Given the description of an element on the screen output the (x, y) to click on. 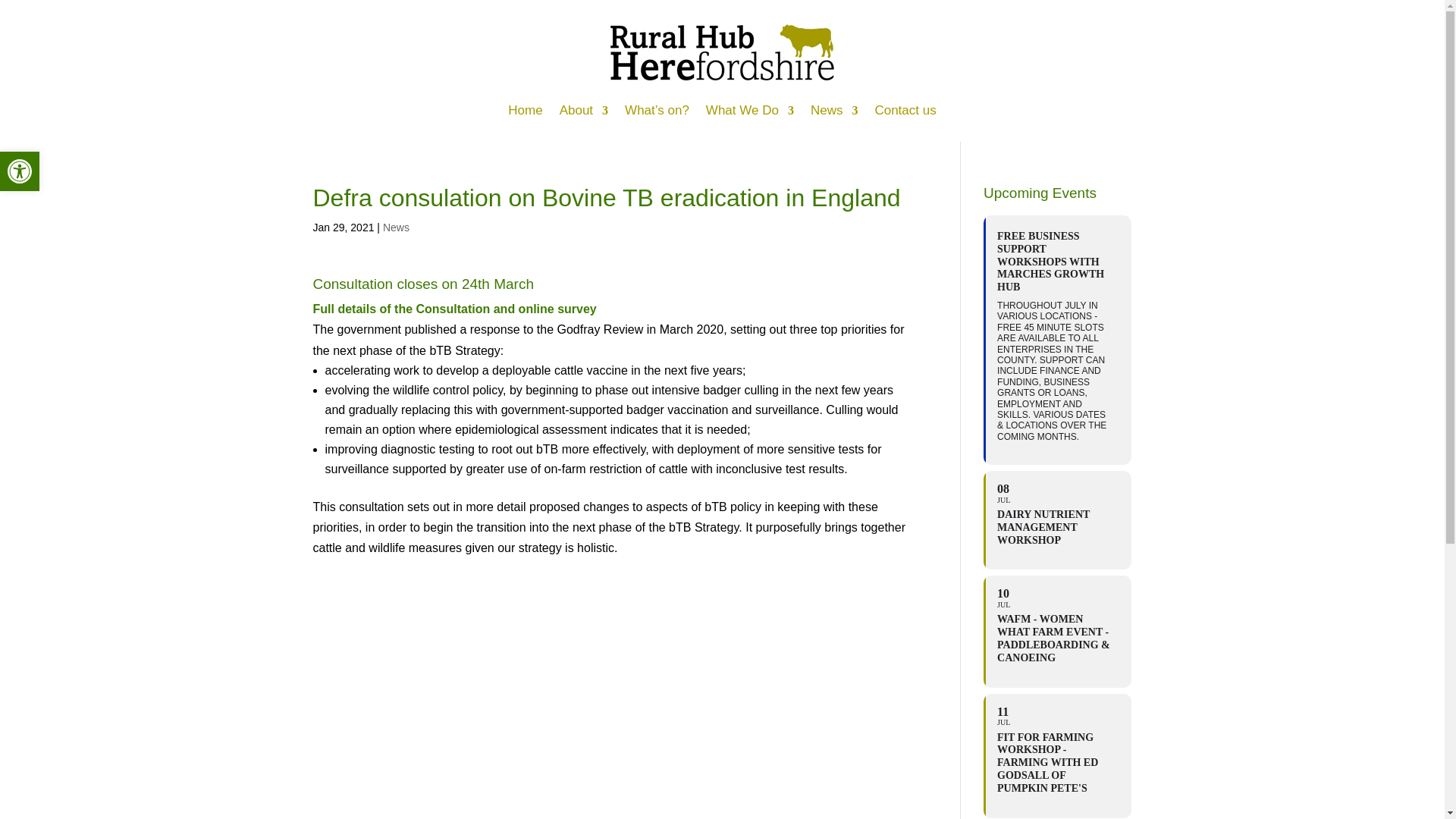
Contact us (905, 110)
Accessibility Tools (19, 170)
Accessibility Tools (19, 170)
What We Do (19, 170)
